Given the description of an element on the screen output the (x, y) to click on. 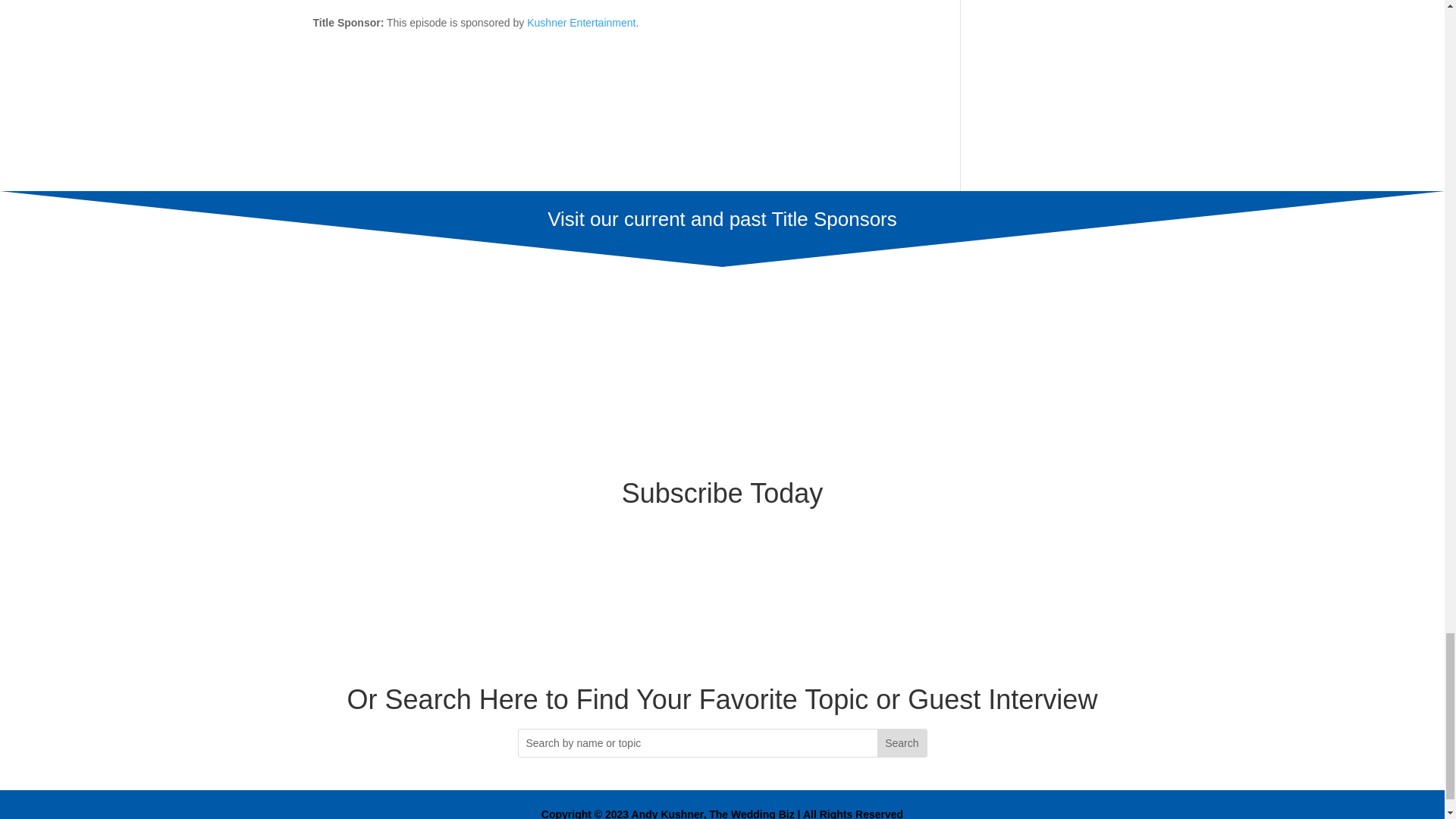
Search (901, 742)
Search (901, 742)
